Given the description of an element on the screen output the (x, y) to click on. 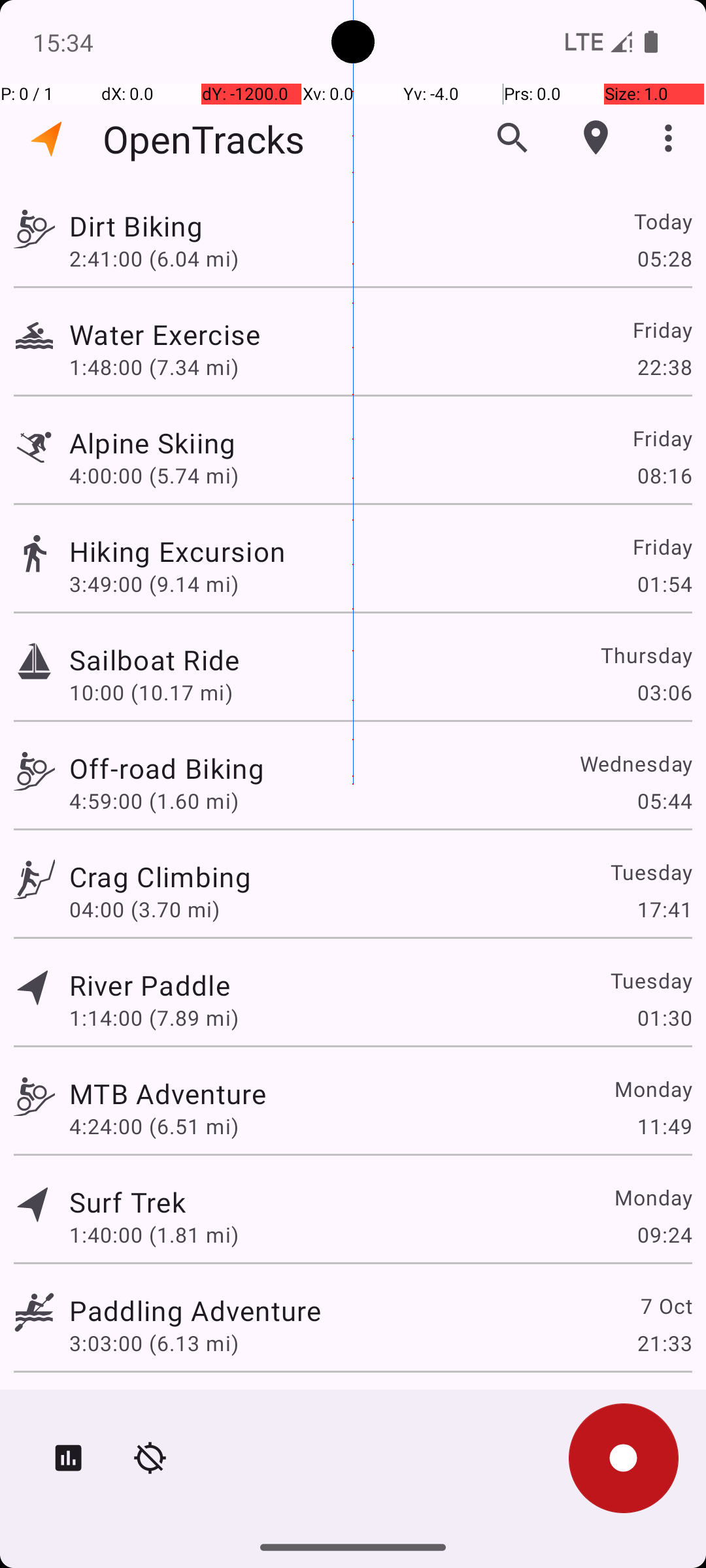
OpenTracks Element type: android.widget.TextView (203, 138)
Markers Element type: android.widget.Button (595, 137)
Record Element type: android.widget.ImageButton (623, 1458)
Track Element type: android.widget.ImageView (33, 227)
Dirt Biking Element type: android.widget.TextView (135, 225)
Today Element type: android.widget.TextView (662, 221)
2:41:00 (6.04 mi) Element type: android.widget.TextView (153, 258)
05:28 Element type: android.widget.TextView (664, 258)
Water Exercise Element type: android.widget.TextView (164, 333)
Friday Element type: android.widget.TextView (661, 329)
1:48:00 (7.34 mi) Element type: android.widget.TextView (153, 366)
22:38 Element type: android.widget.TextView (664, 366)
Alpine Skiing Element type: android.widget.TextView (152, 442)
4:00:00 (5.74 mi) Element type: android.widget.TextView (153, 475)
08:16 Element type: android.widget.TextView (664, 475)
Hiking Excursion Element type: android.widget.TextView (176, 550)
3:49:00 (9.14 mi) Element type: android.widget.TextView (153, 583)
01:54 Element type: android.widget.TextView (664, 583)
Sailboat Ride Element type: android.widget.TextView (154, 659)
Thursday Element type: android.widget.TextView (645, 654)
10:00 (10.17 mi) Element type: android.widget.TextView (150, 692)
03:06 Element type: android.widget.TextView (664, 692)
Off-road Biking Element type: android.widget.TextView (166, 767)
Wednesday Element type: android.widget.TextView (635, 763)
4:59:00 (1.60 mi) Element type: android.widget.TextView (153, 800)
05:44 Element type: android.widget.TextView (664, 800)
Crag Climbing Element type: android.widget.TextView (159, 876)
Tuesday Element type: android.widget.TextView (650, 871)
04:00 (3.70 mi) Element type: android.widget.TextView (144, 909)
17:41 Element type: android.widget.TextView (664, 909)
River Paddle Element type: android.widget.TextView (149, 984)
1:14:00 (7.89 mi) Element type: android.widget.TextView (153, 1017)
01:30 Element type: android.widget.TextView (664, 1017)
MTB Adventure Element type: android.widget.TextView (167, 1092)
Monday Element type: android.widget.TextView (652, 1088)
4:24:00 (6.51 mi) Element type: android.widget.TextView (153, 1125)
11:49 Element type: android.widget.TextView (664, 1125)
Surf Trek Element type: android.widget.TextView (127, 1201)
1:40:00 (1.81 mi) Element type: android.widget.TextView (153, 1234)
09:24 Element type: android.widget.TextView (664, 1234)
Paddling Adventure Element type: android.widget.TextView (194, 1309)
7 Oct Element type: android.widget.TextView (665, 1305)
3:03:00 (6.13 mi) Element type: android.widget.TextView (153, 1342)
21:33 Element type: android.widget.TextView (664, 1342)
Nature Hike Element type: android.widget.TextView (144, 1408)
5 Oct Element type: android.widget.TextView (665, 1408)
